Given the description of an element on the screen output the (x, y) to click on. 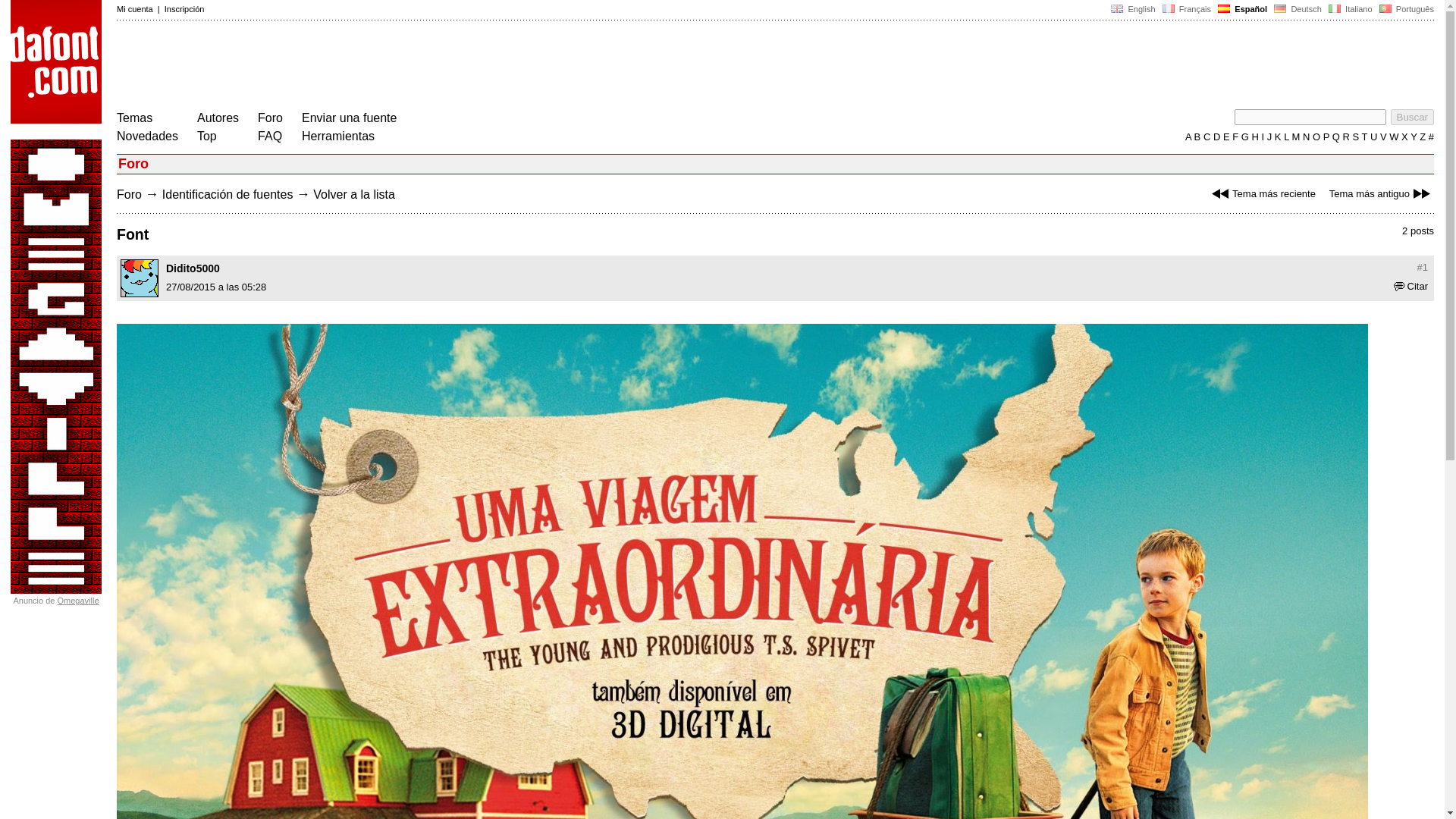
Autores (217, 117)
Link a este post (1422, 266)
G (1244, 136)
   English (1132, 8)
Atajo de teclado: Flecha Derecha (1381, 193)
Atajo de teclado: Flecha Izquierda (1262, 193)
Buscar (1412, 116)
Top (206, 135)
M (1294, 136)
Foro (269, 117)
